Given the description of an element on the screen output the (x, y) to click on. 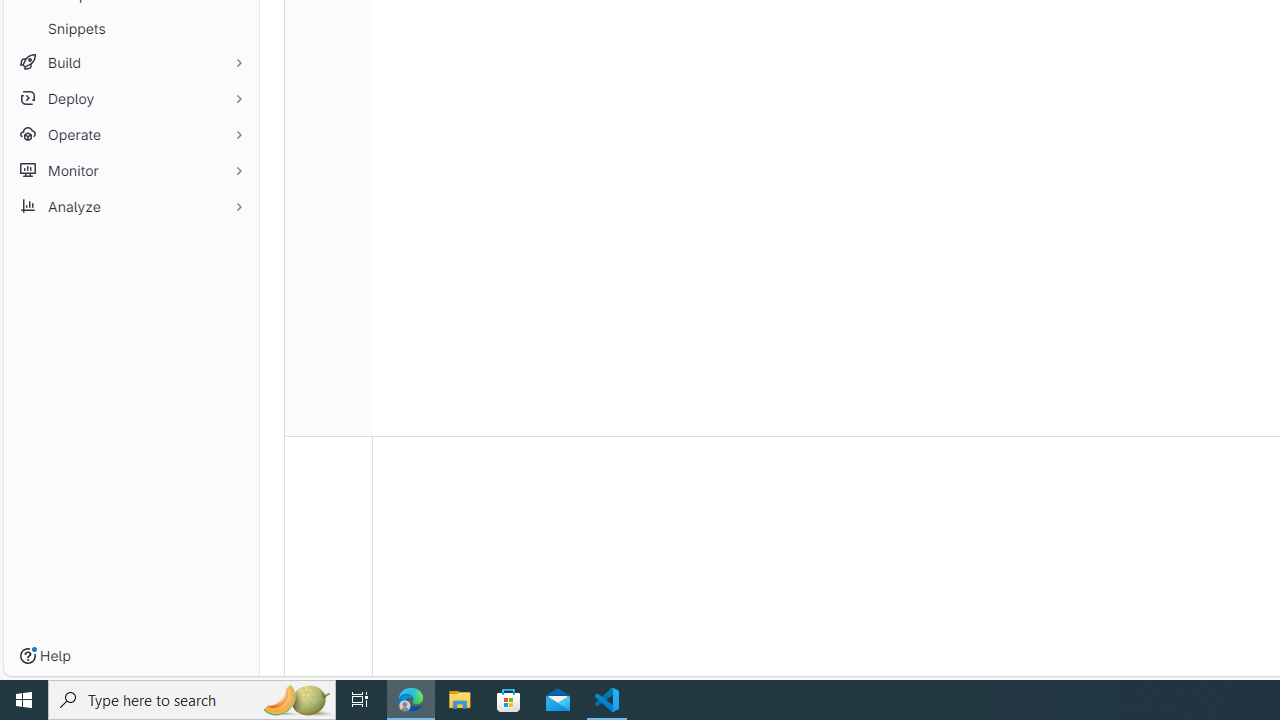
Analyze (130, 206)
